Given the description of an element on the screen output the (x, y) to click on. 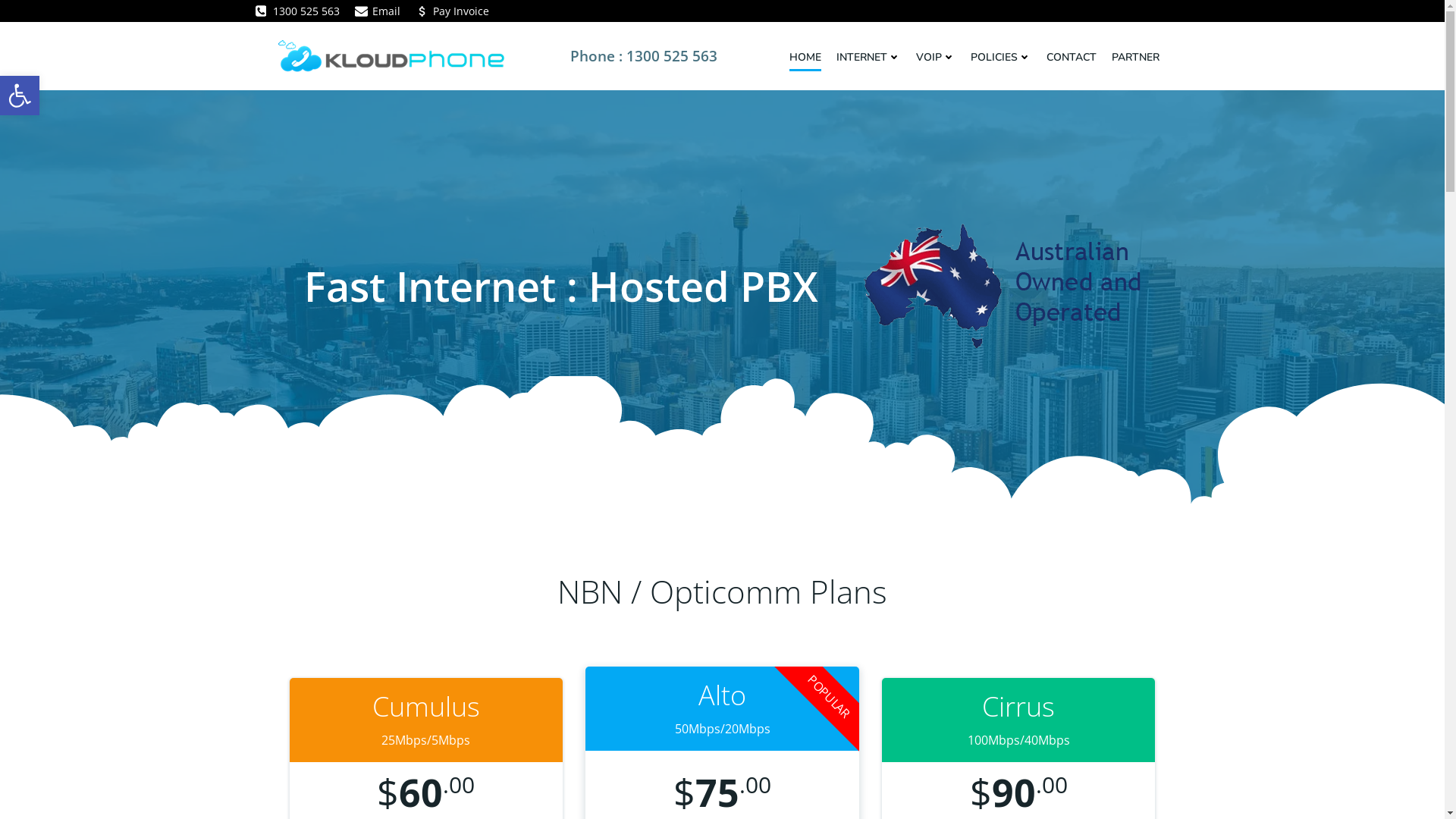
Email Element type: text (377, 10)
POLICIES Element type: text (1000, 57)
PARTNER Element type: text (1135, 57)
CONTACT Element type: text (1071, 57)
INTERNET Element type: text (867, 57)
Open toolbar
Accessibility Tools Element type: text (19, 95)
HOME Element type: text (804, 57)
VOIP Element type: text (935, 57)
Pay Invoice Element type: text (452, 10)
